Given the description of an element on the screen output the (x, y) to click on. 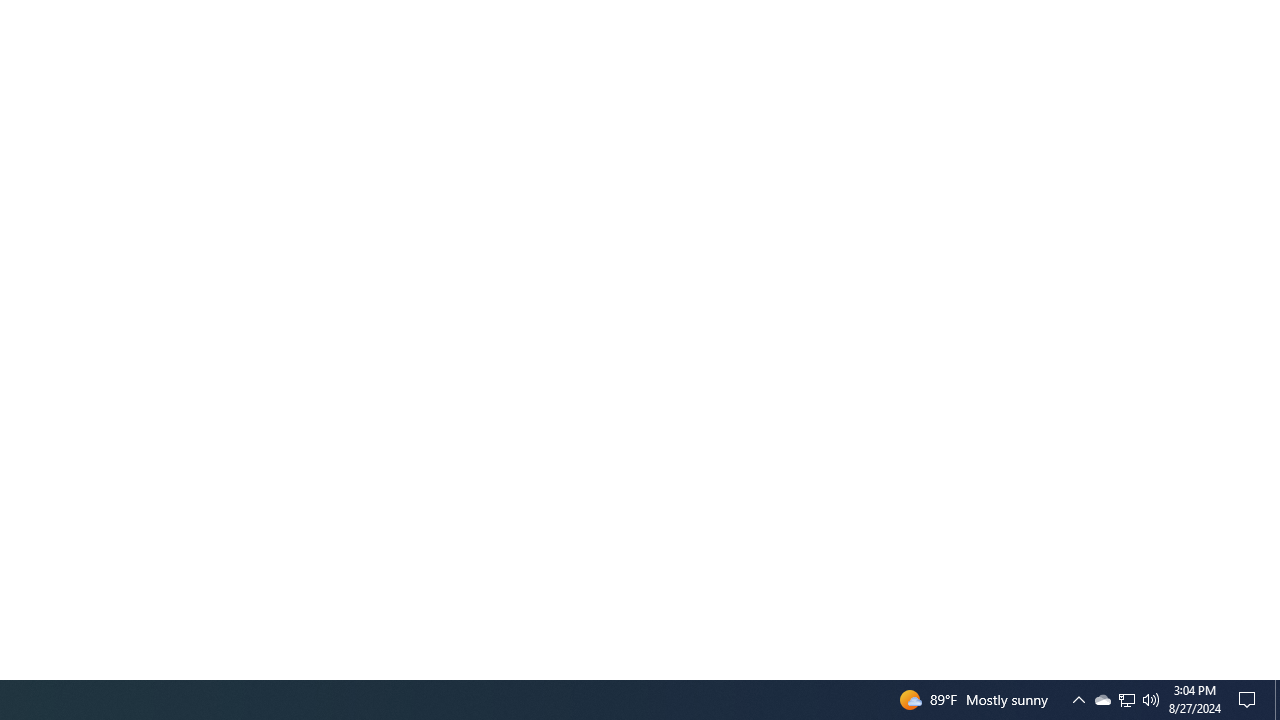
Q2790: 100% (1151, 699)
Notification Chevron (1078, 699)
Action Center, No new notifications (1250, 699)
User Promoted Notification Area (1102, 699)
Show desktop (1126, 699)
